Given the description of an element on the screen output the (x, y) to click on. 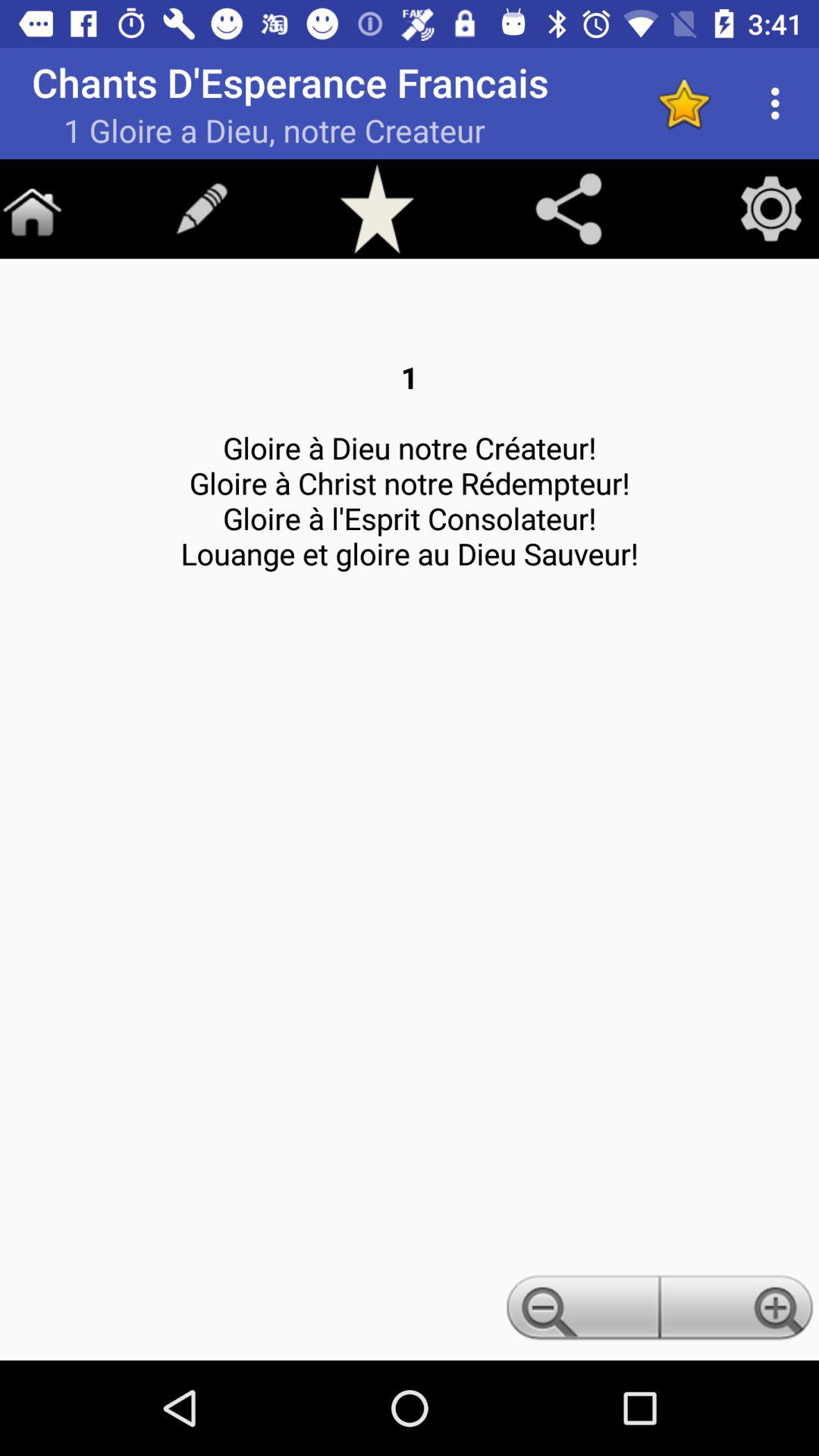
zoom in (739, 1311)
